Given the description of an element on the screen output the (x, y) to click on. 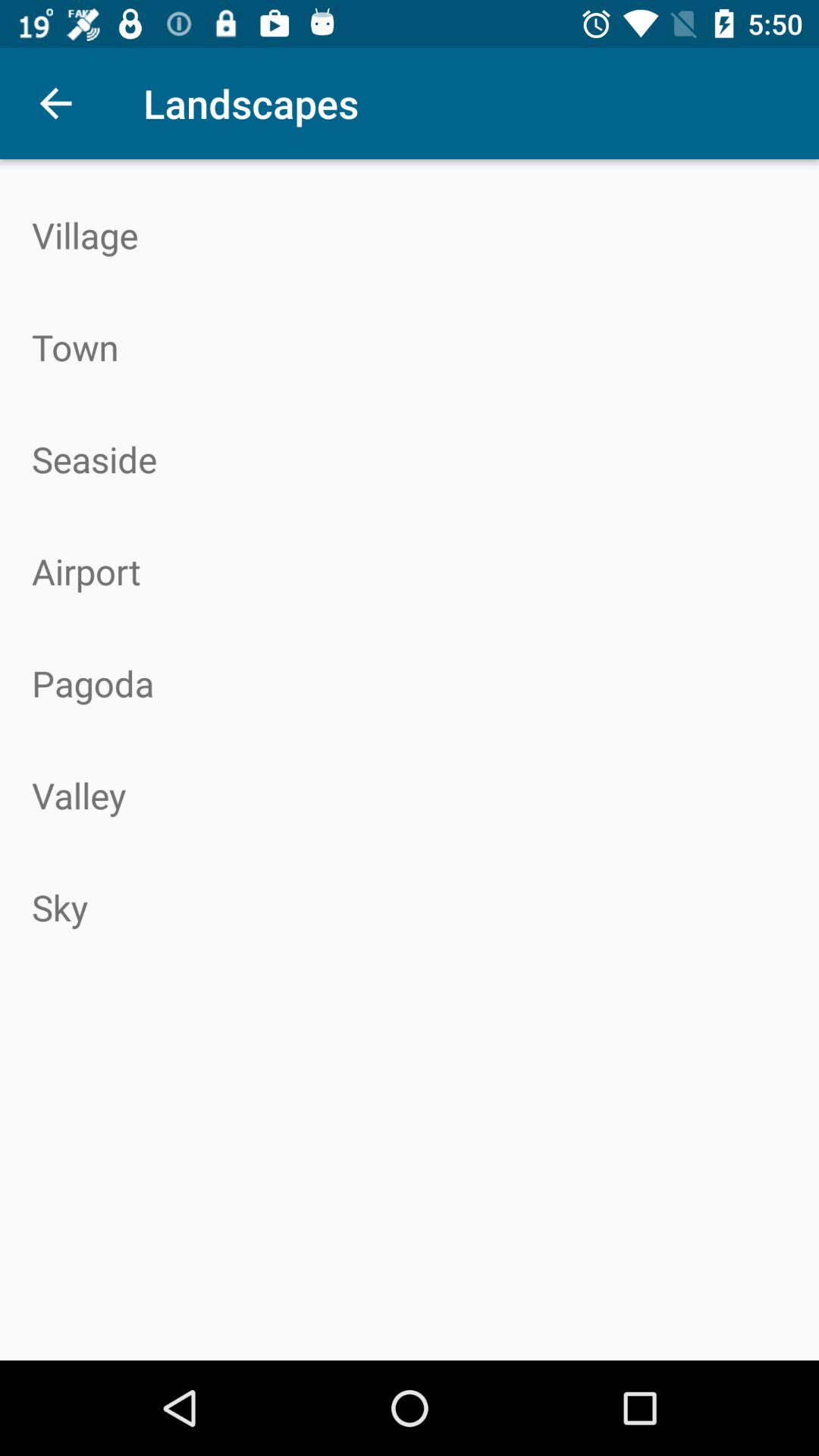
scroll until pagoda icon (409, 683)
